Given the description of an element on the screen output the (x, y) to click on. 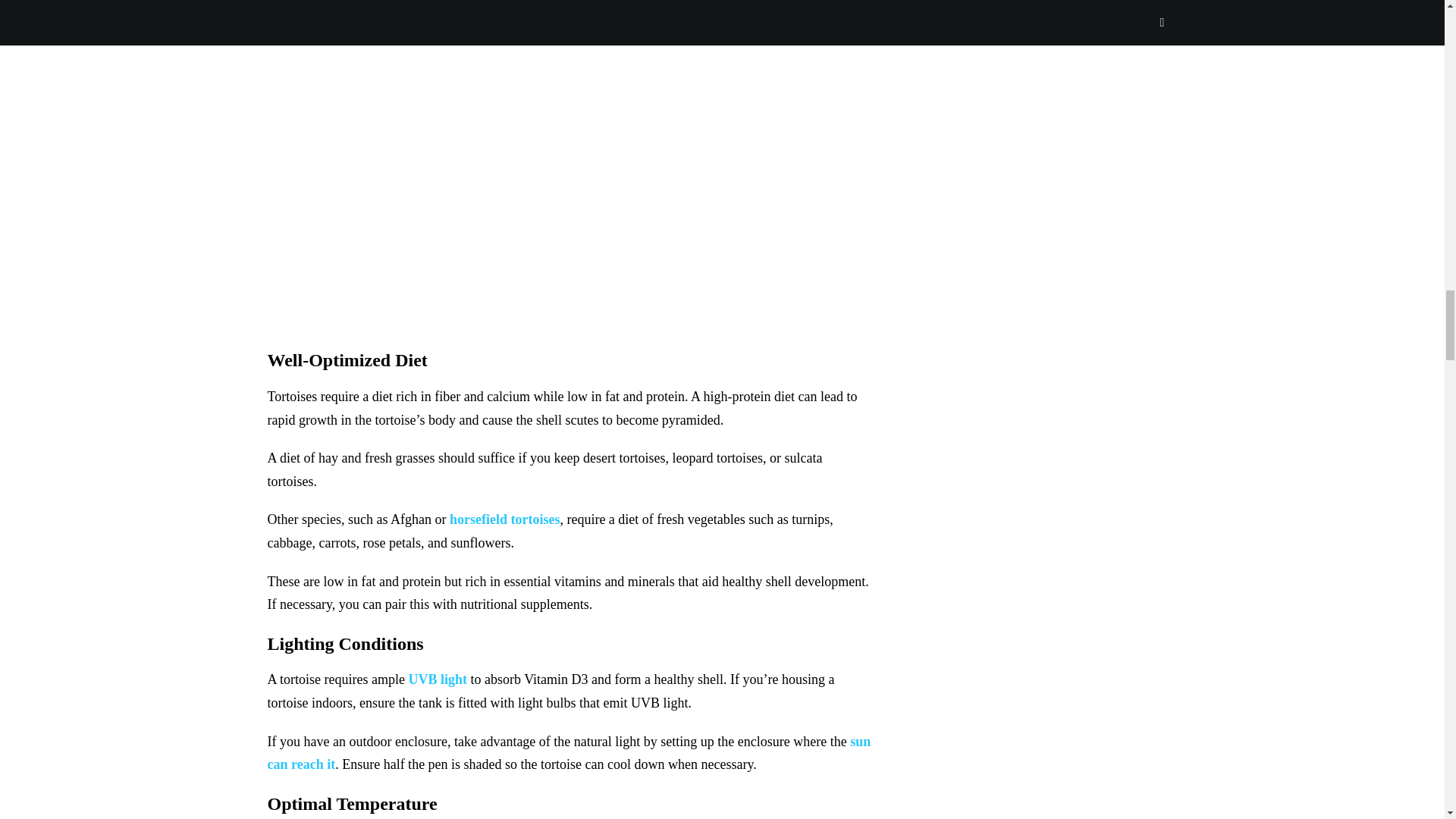
UVB light (437, 679)
horsefield tortoises (504, 519)
sun can reach it (568, 753)
